Given the description of an element on the screen output the (x, y) to click on. 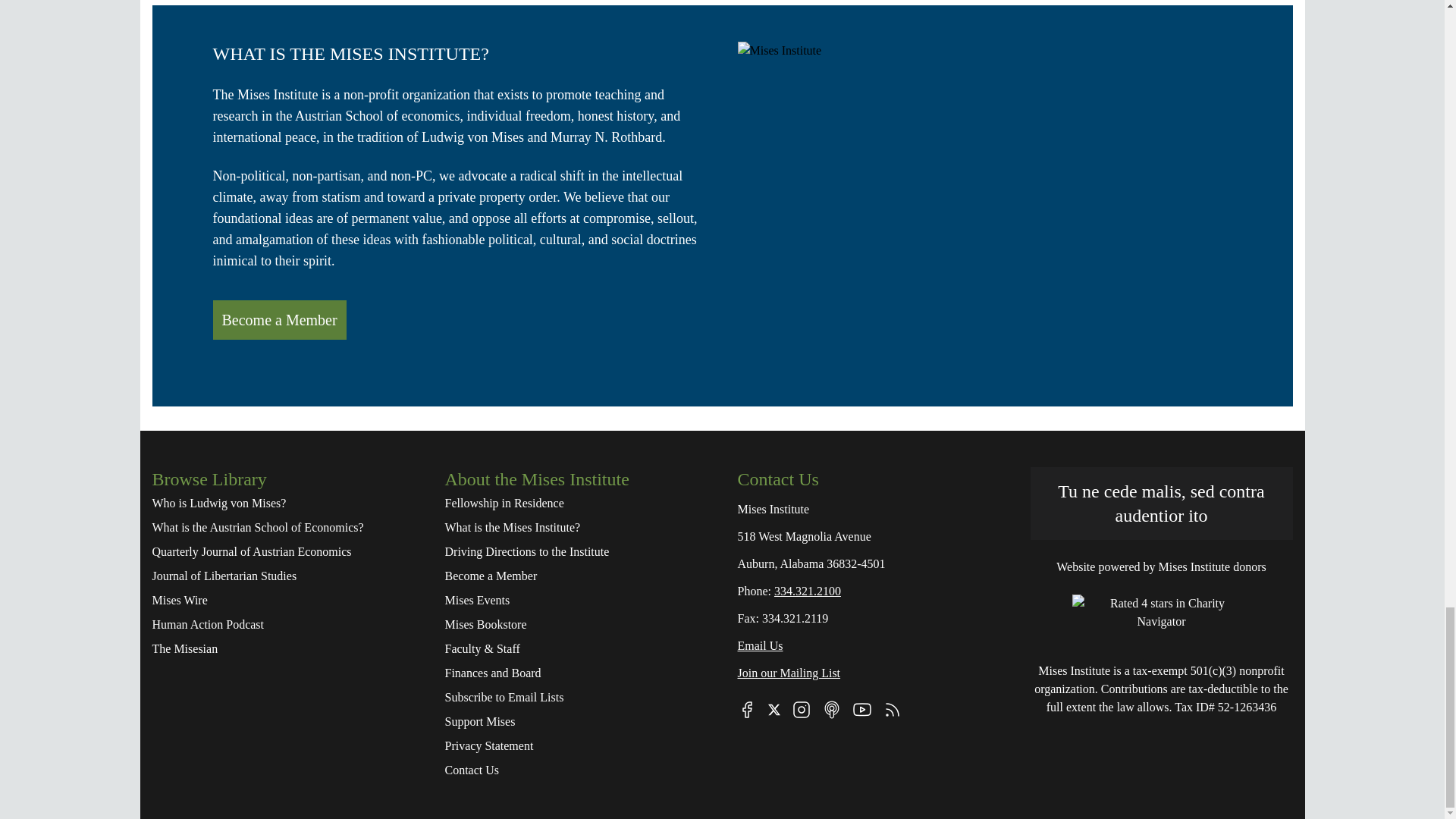
The Misesian (282, 648)
